Given the description of an element on the screen output the (x, y) to click on. 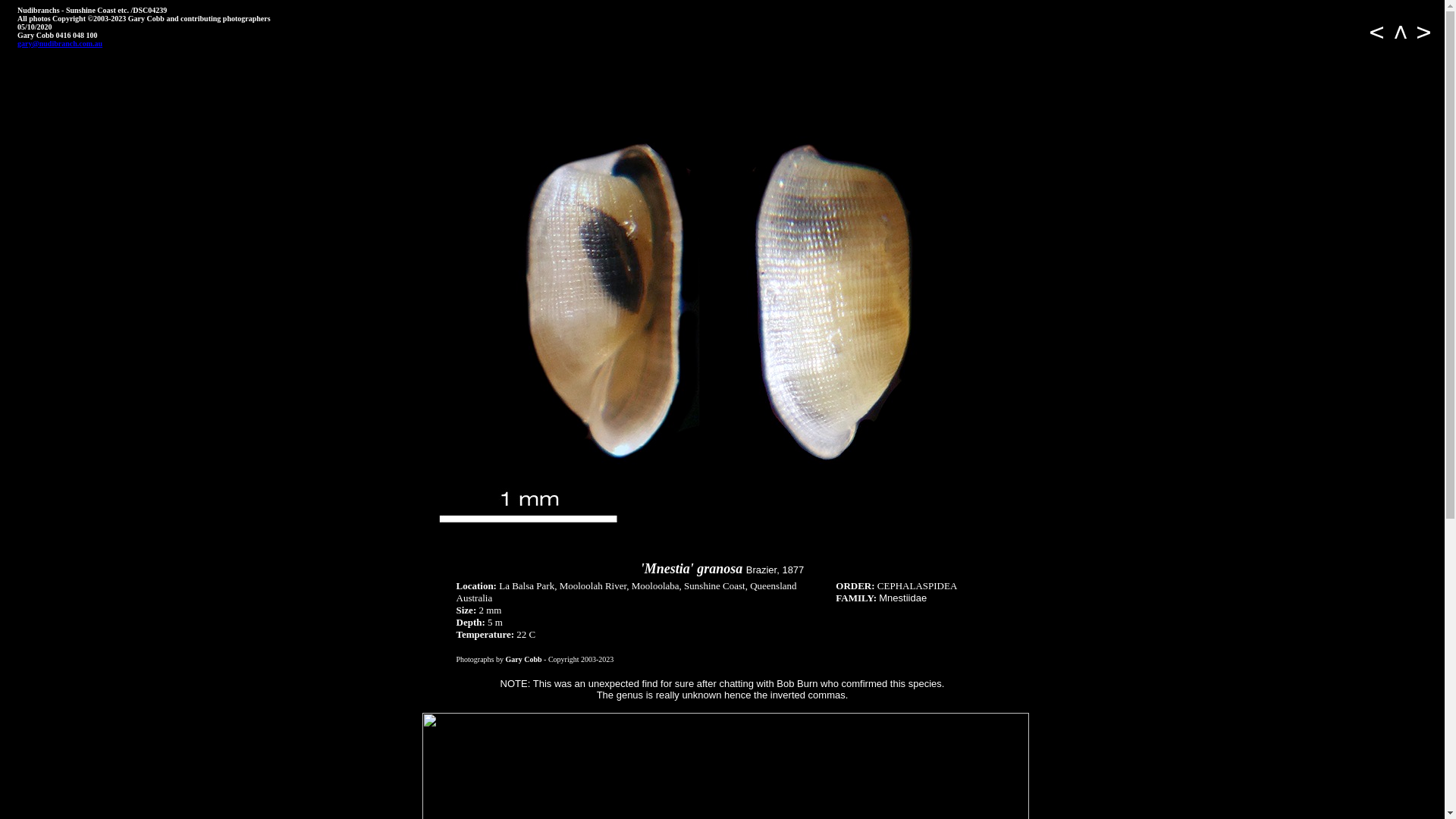
gary@nudibranch.com.au Element type: text (59, 43)
